Given the description of an element on the screen output the (x, y) to click on. 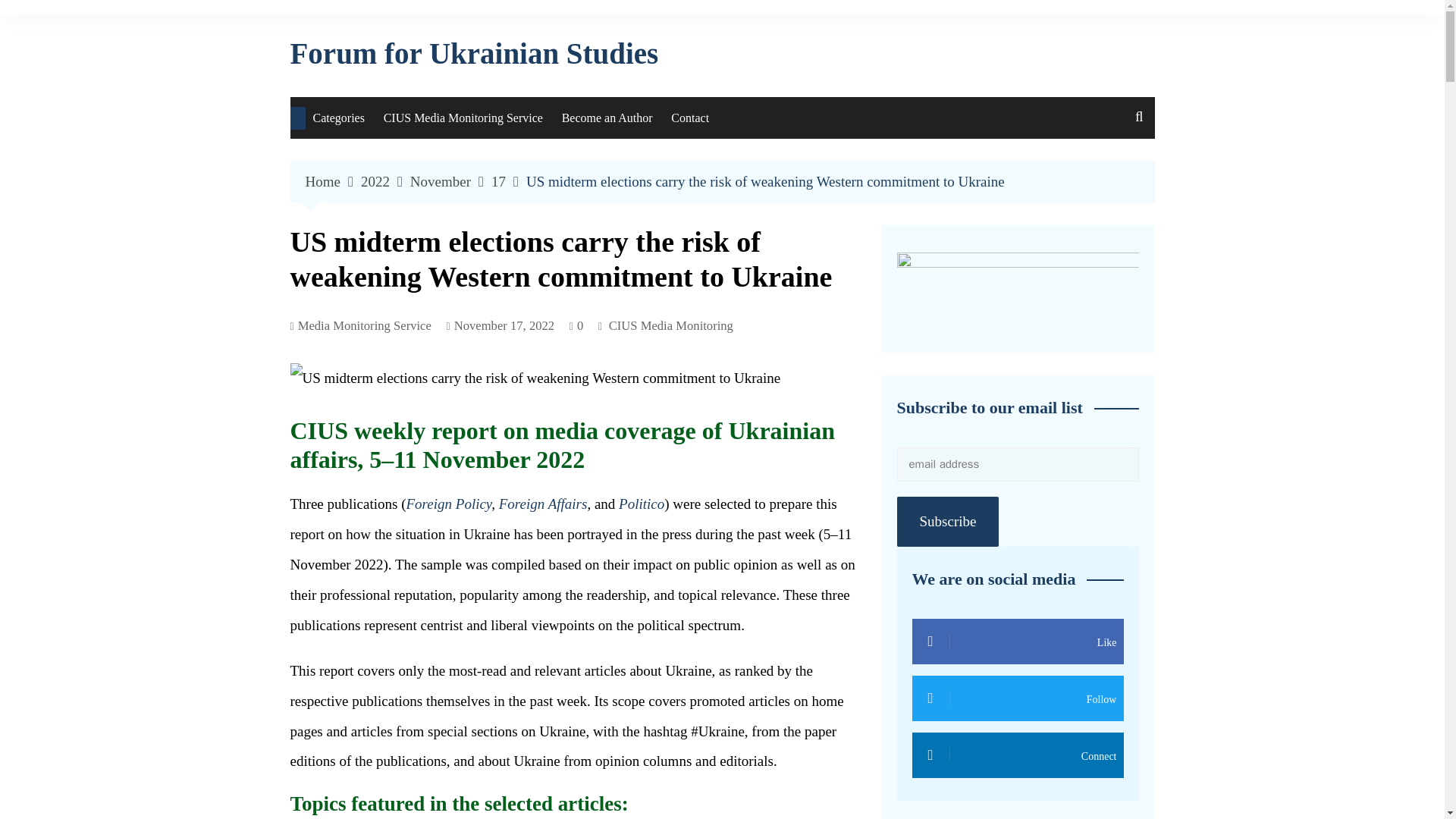
November 17, 2022 (500, 325)
Politics (387, 281)
CIUS Media Monitoring (670, 325)
Forum for Ukrainian Studies (473, 52)
Home (331, 182)
Become an Author (607, 118)
Foreign Policy (449, 503)
CIUS Media Monitoring Service (462, 118)
Society (387, 186)
Media Monitoring Service (359, 325)
Foreign Affairs (543, 503)
Politico (640, 503)
2022 (385, 182)
Interview (387, 312)
Media (387, 249)
